Given the description of an element on the screen output the (x, y) to click on. 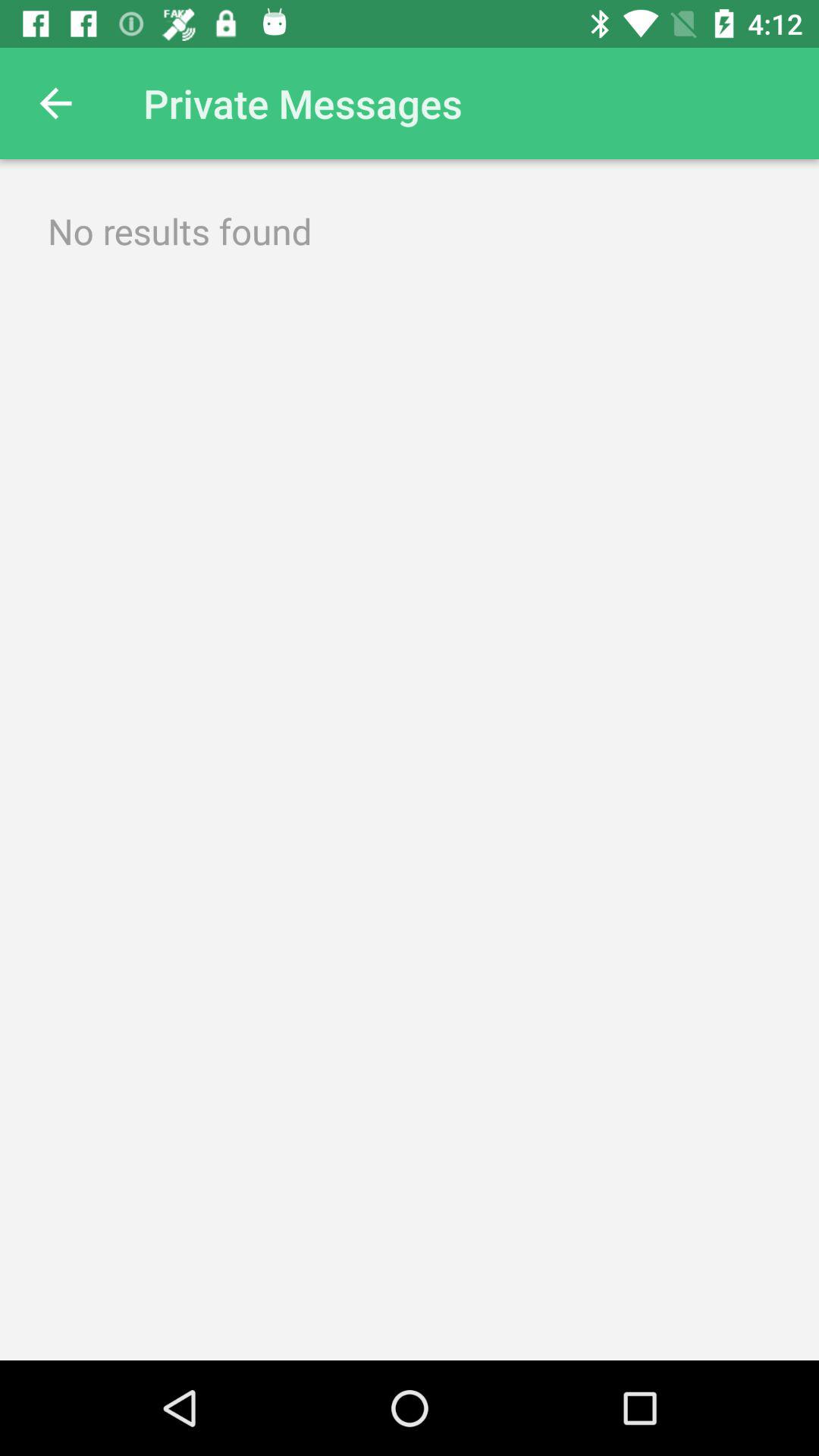
click the item above the no results found item (55, 103)
